Given the description of an element on the screen output the (x, y) to click on. 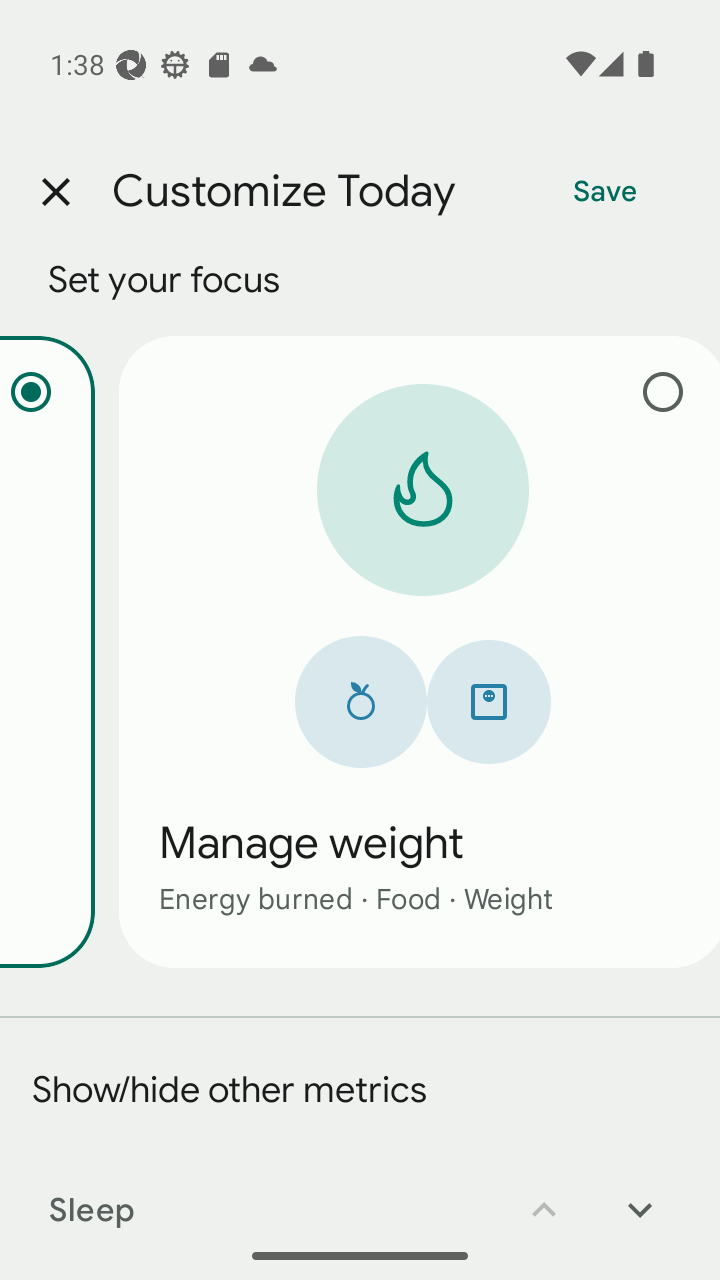
Close (55, 191)
Save (605, 191)
Manage weight Energy burned · Food · Weight (419, 651)
Move Sleep up (543, 1196)
Move Sleep down (639, 1196)
